Given the description of an element on the screen output the (x, y) to click on. 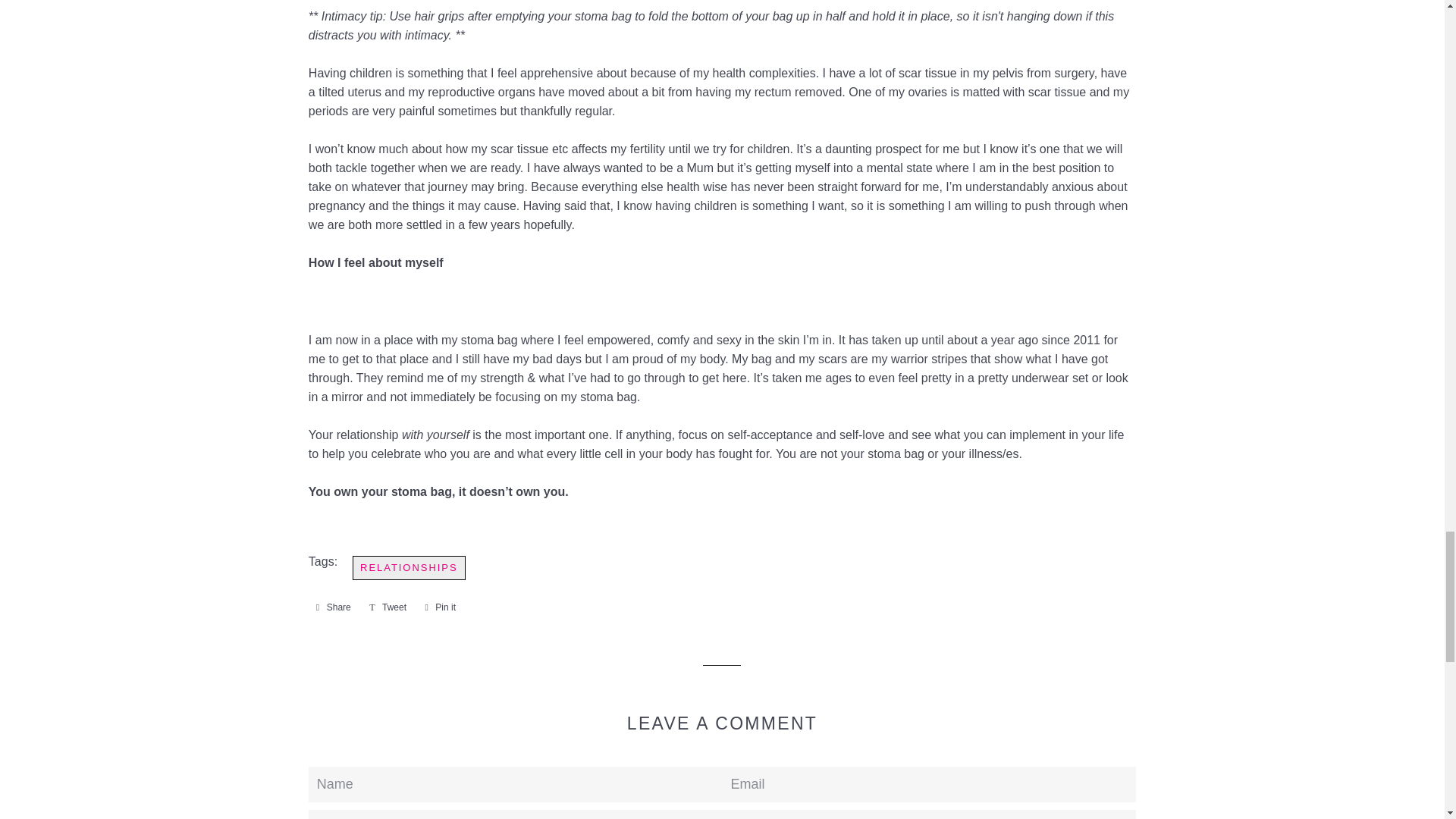
Pin on Pinterest (439, 606)
Tweet on Twitter (387, 606)
Share on Facebook (333, 606)
